Given the description of an element on the screen output the (x, y) to click on. 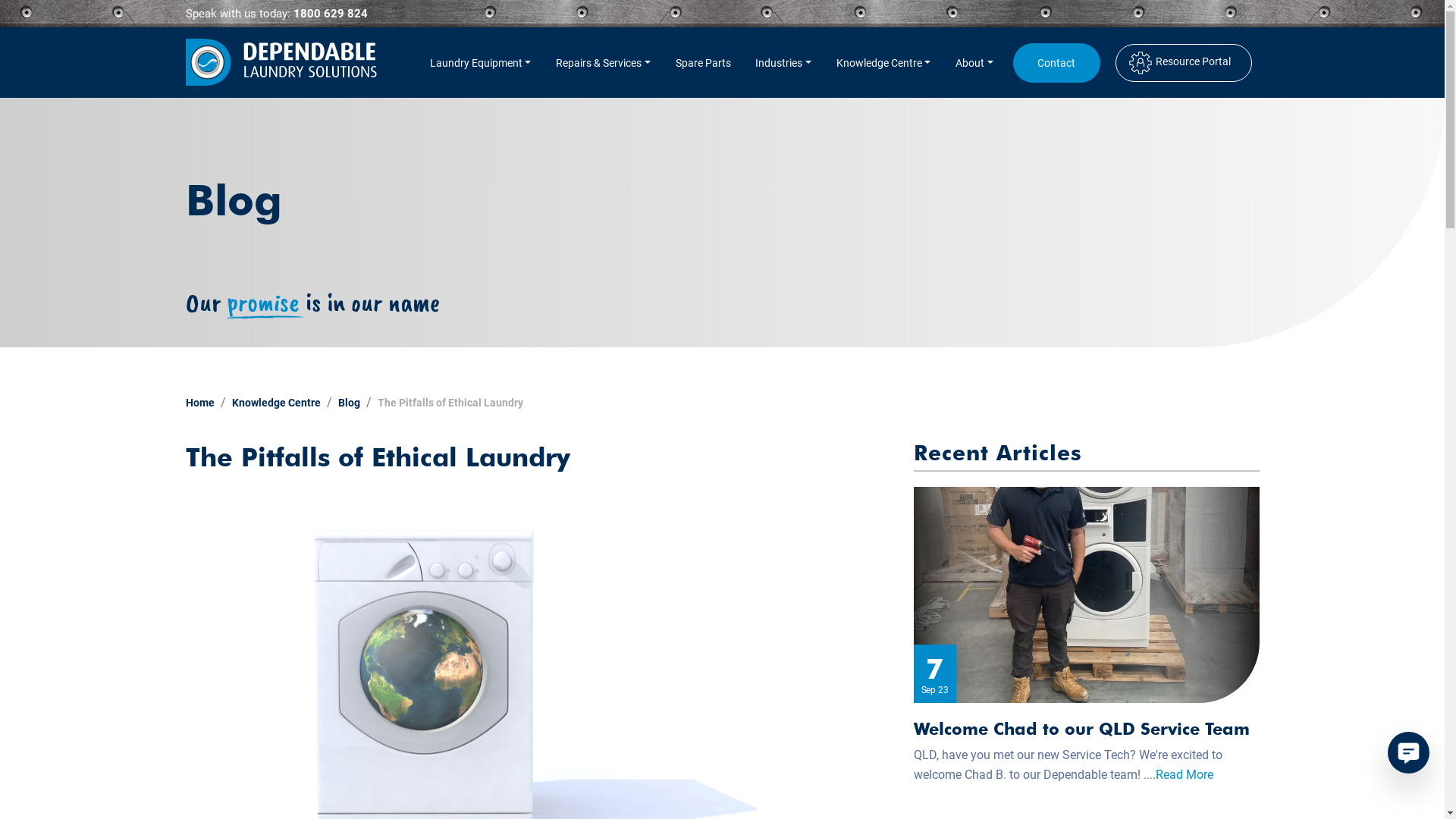
1800 629 824 Element type: text (329, 13)
Contact Element type: text (1056, 62)
Knowledge Centre Element type: text (883, 62)
The Pitfalls of Ethical Laundry Element type: text (450, 402)
Repairs & Services Element type: text (603, 62)
Read More Element type: text (1184, 774)
Welcome Chad to our QLD Service Team Element type: text (1080, 728)
Resource Portal Element type: text (1179, 61)
Industries Element type: text (782, 62)
Laundry Equipment Element type: text (479, 62)
Spare Parts Element type: text (702, 62)
Blog Element type: text (349, 402)
Knowledge Centre Element type: text (276, 402)
About Element type: text (973, 62)
Home Element type: text (199, 402)
